Given the description of an element on the screen output the (x, y) to click on. 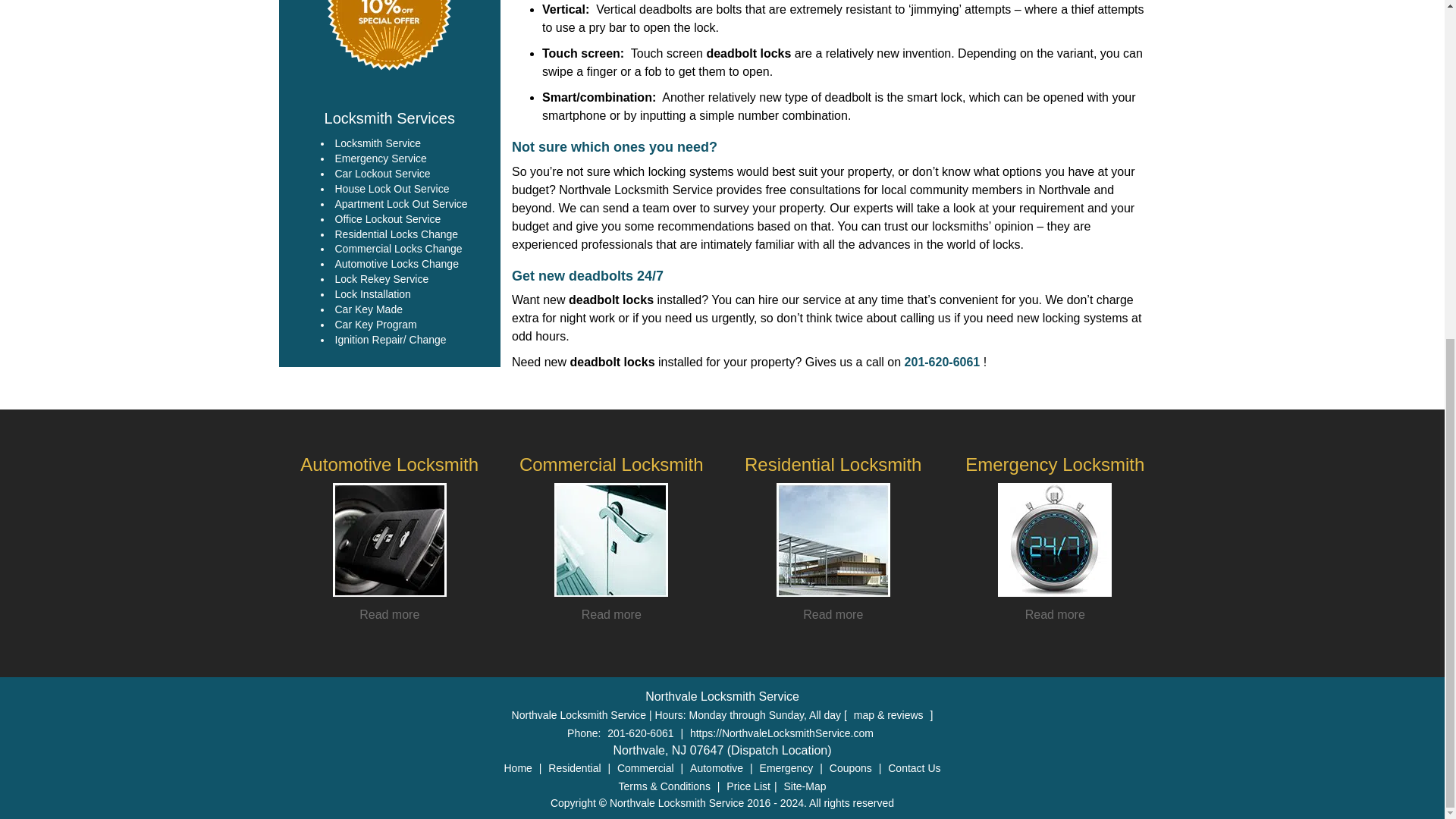
201-620-6061 (941, 361)
Northvale Locksmith Service Northvale, NJ 201-620-6061 (832, 540)
Commercial Locksmith (611, 464)
Read more (611, 614)
Northvale Locksmith Service Northvale, NJ 201-620-6061 (389, 38)
Read more (389, 614)
Northvale Locksmith Service Northvale, NJ 201-620-6061 (611, 540)
Northvale Locksmith Service Northvale, NJ 201-620-6061 (389, 540)
Automotive Locksmith (389, 464)
Northvale Locksmith Service Northvale, NJ 201-620-6061 (1054, 540)
